Given the description of an element on the screen output the (x, y) to click on. 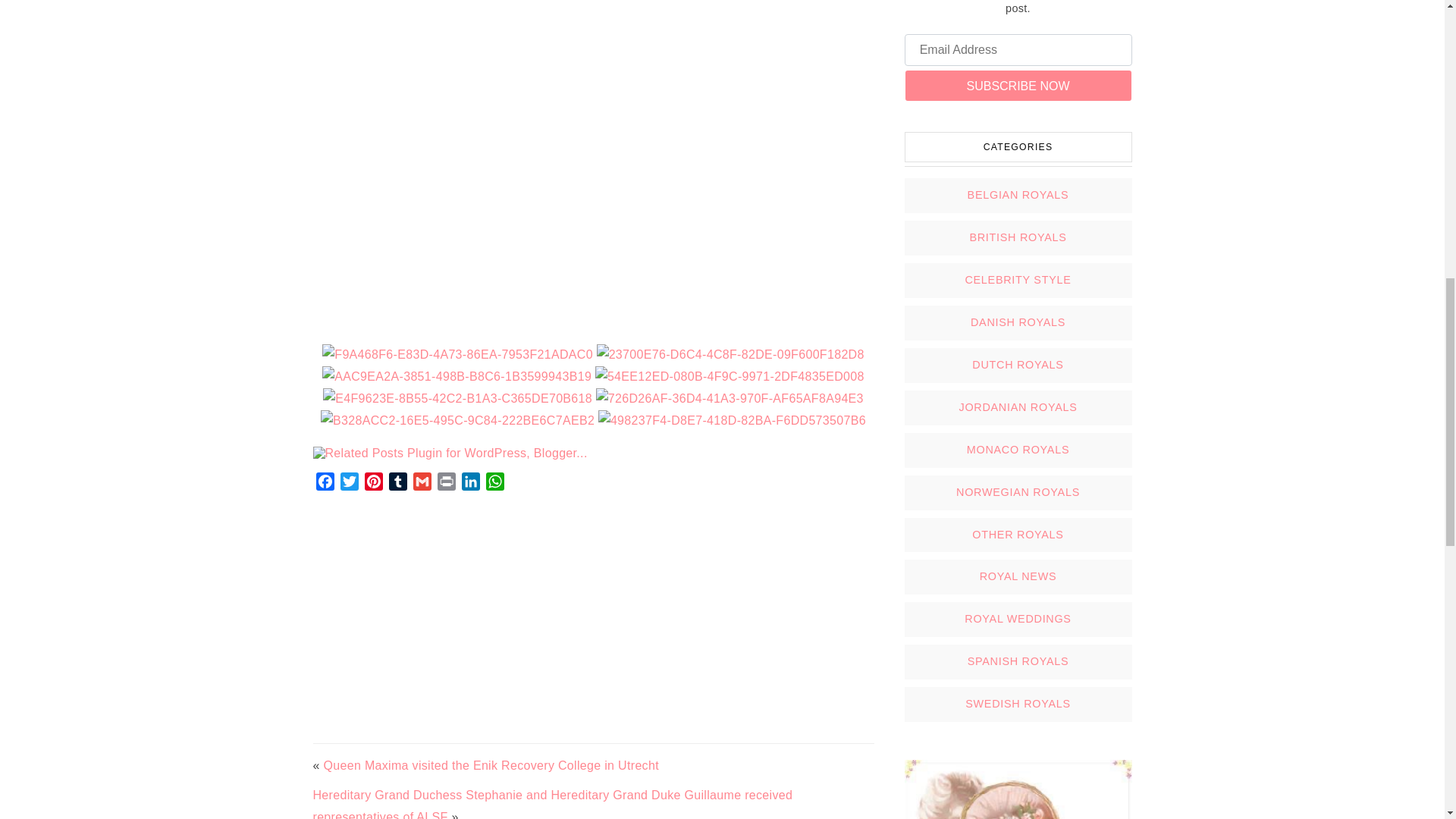
Queen Maxima visited the Enik Recovery College in Utrecht (490, 765)
Twitter (348, 484)
Pinterest (373, 484)
Gmail (421, 484)
Print (445, 484)
Twitter (348, 484)
WhatsApp (493, 484)
WhatsApp (493, 484)
Tumblr (397, 484)
LinkedIn (469, 484)
